Given the description of an element on the screen output the (x, y) to click on. 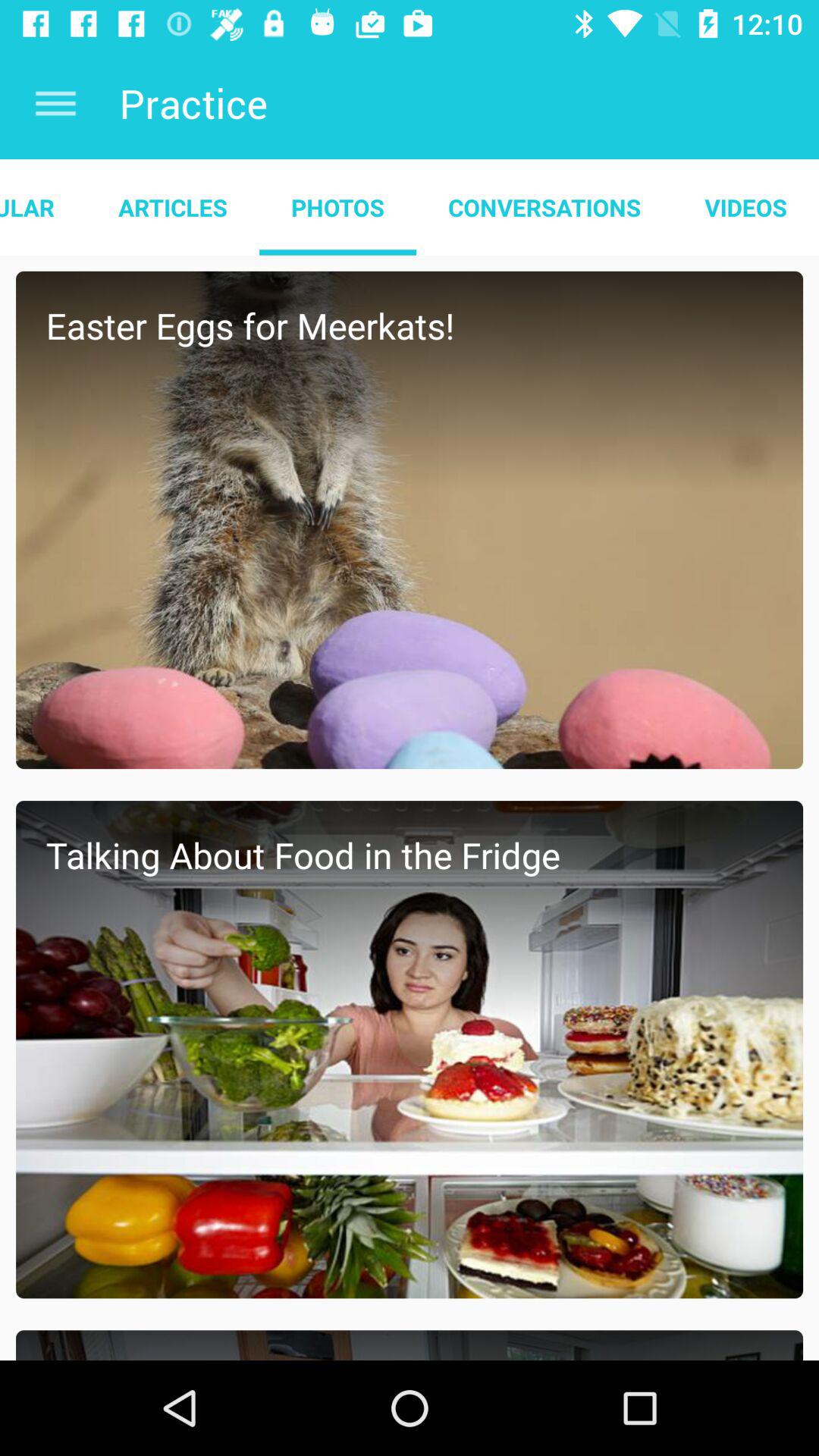
launch the app to the right of the articles (337, 207)
